Given the description of an element on the screen output the (x, y) to click on. 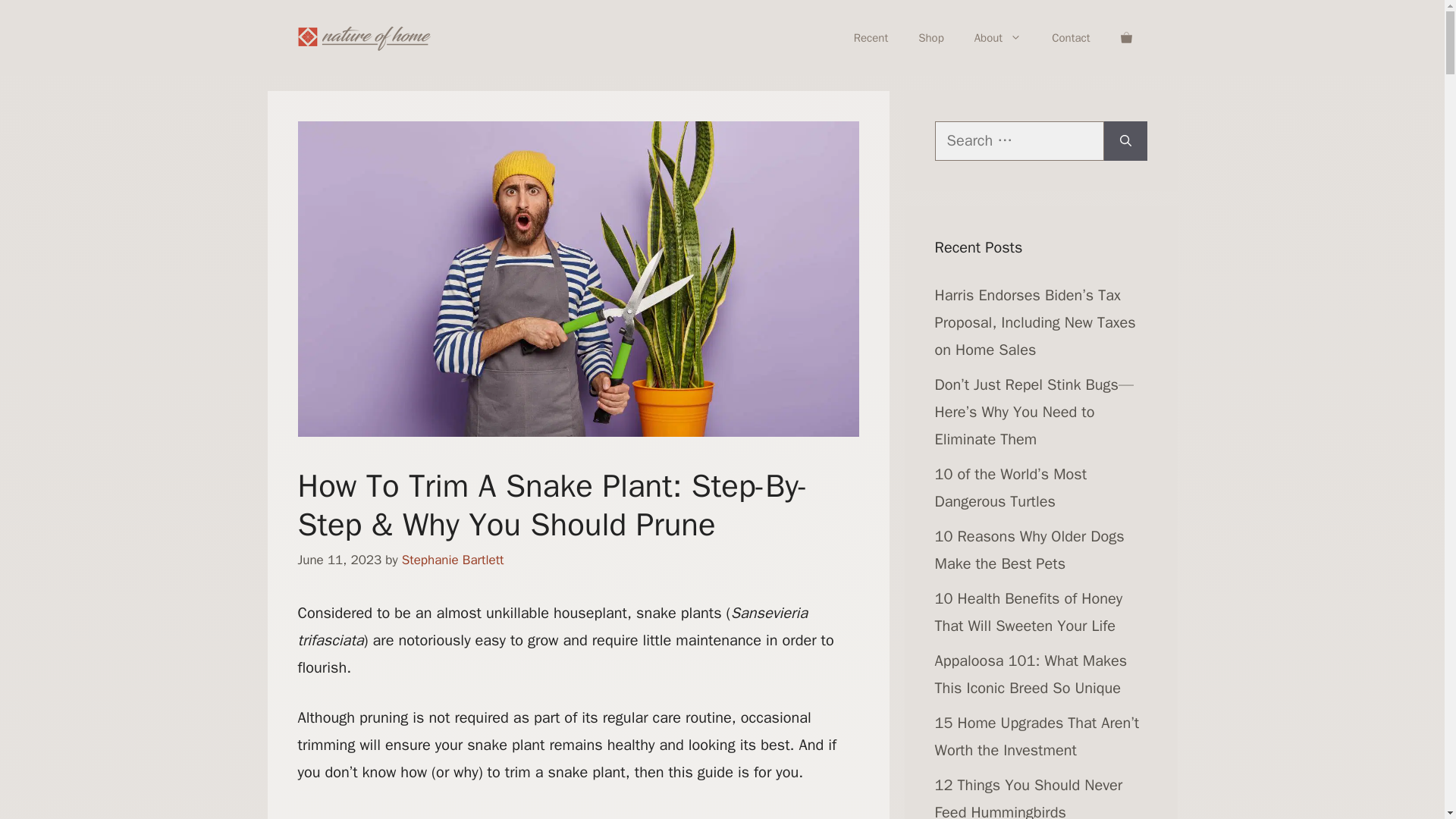
Recent (871, 37)
Stephanie Bartlett (452, 560)
About (997, 37)
Shop (930, 37)
View all posts by Stephanie Bartlett (452, 560)
Contact (1070, 37)
View your shopping cart (1126, 37)
